Given the description of an element on the screen output the (x, y) to click on. 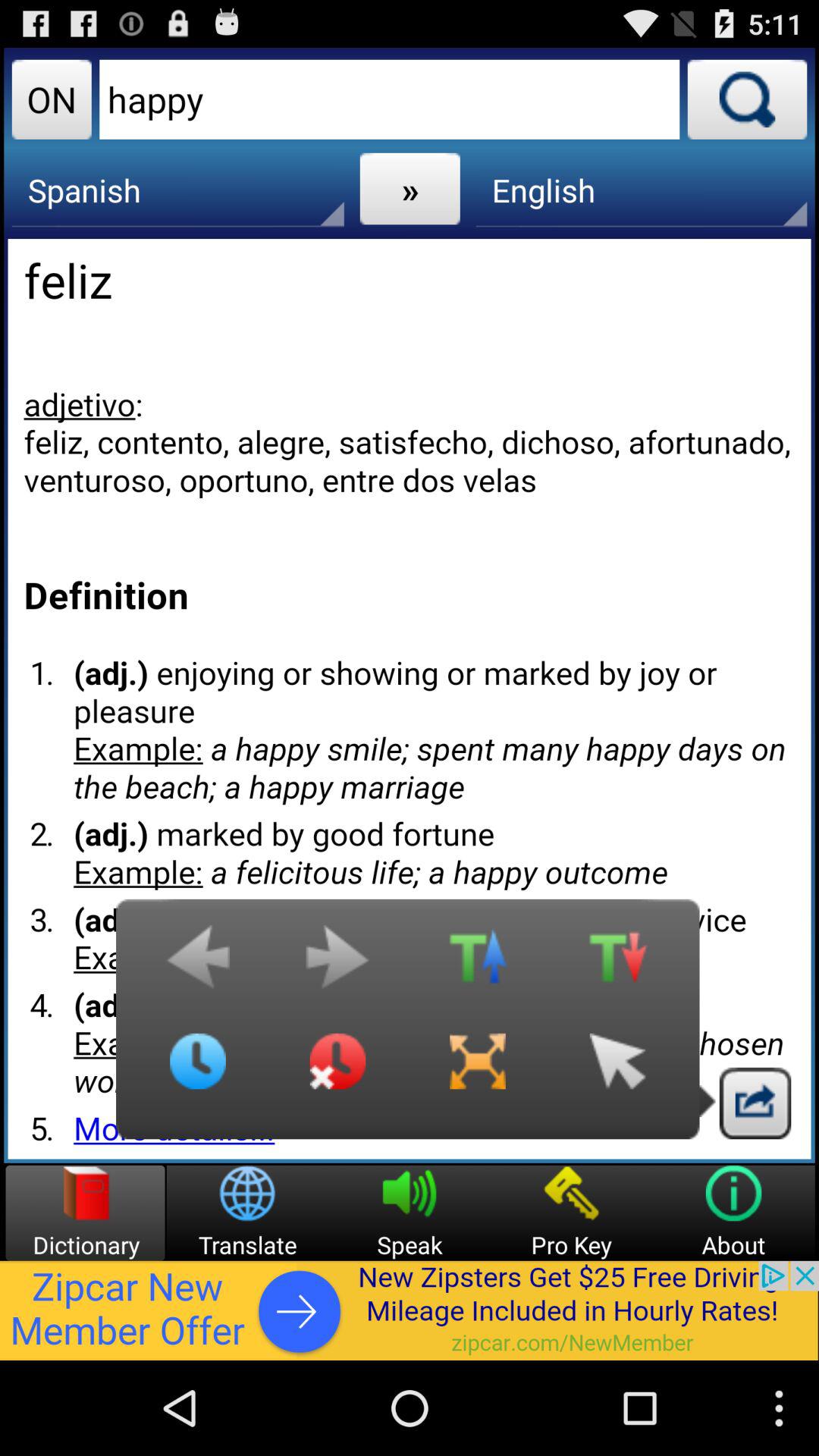
go to previous (197, 964)
